Given the description of an element on the screen output the (x, y) to click on. 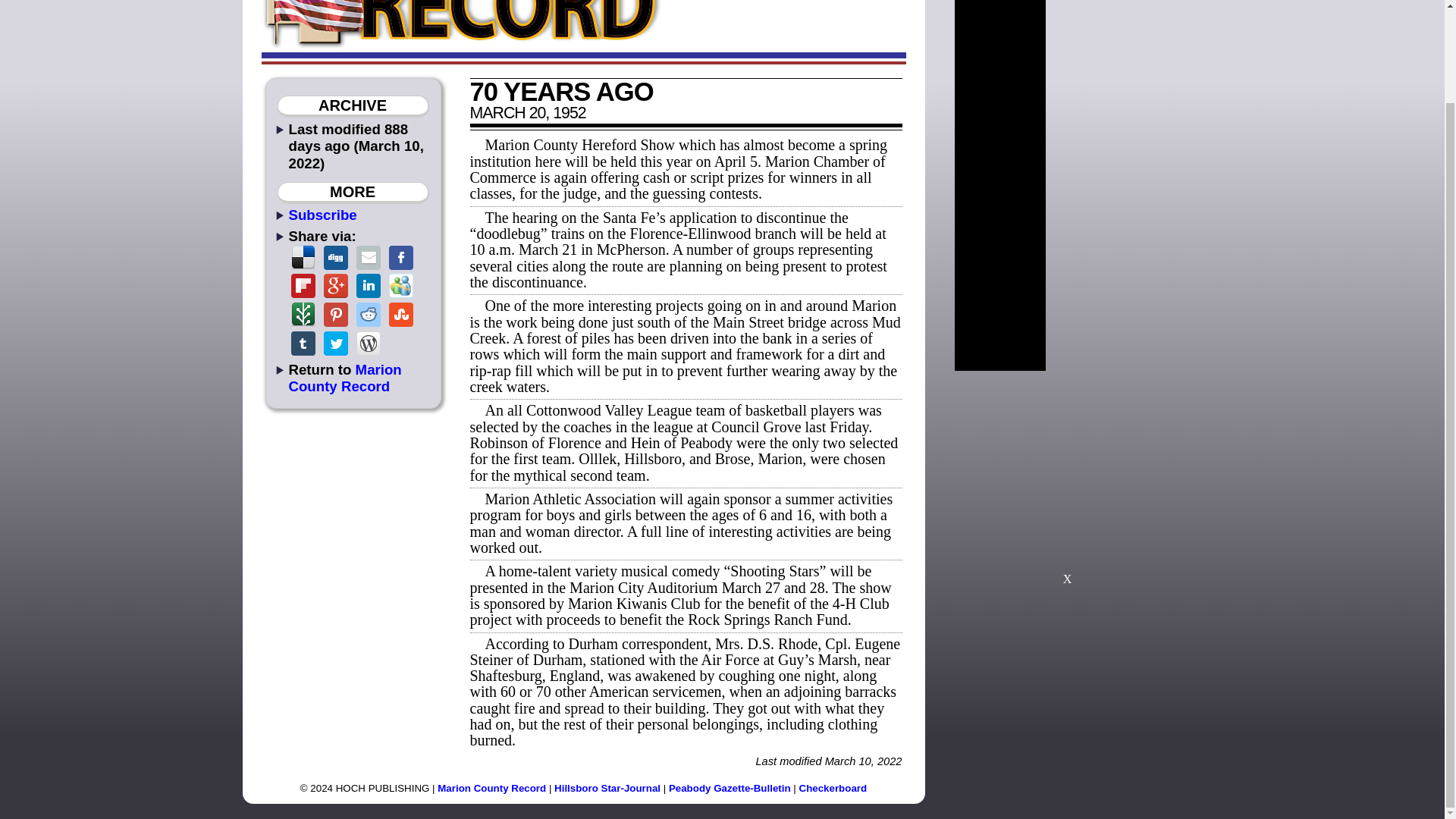
Advertisement (1067, 484)
Marion County Record (344, 377)
Marion County Record (492, 787)
Hillsboro Star-Journal (607, 787)
Checkerboard (833, 787)
Peabody Gazette-Bulletin (729, 787)
Subscribe (322, 214)
